Given the description of an element on the screen output the (x, y) to click on. 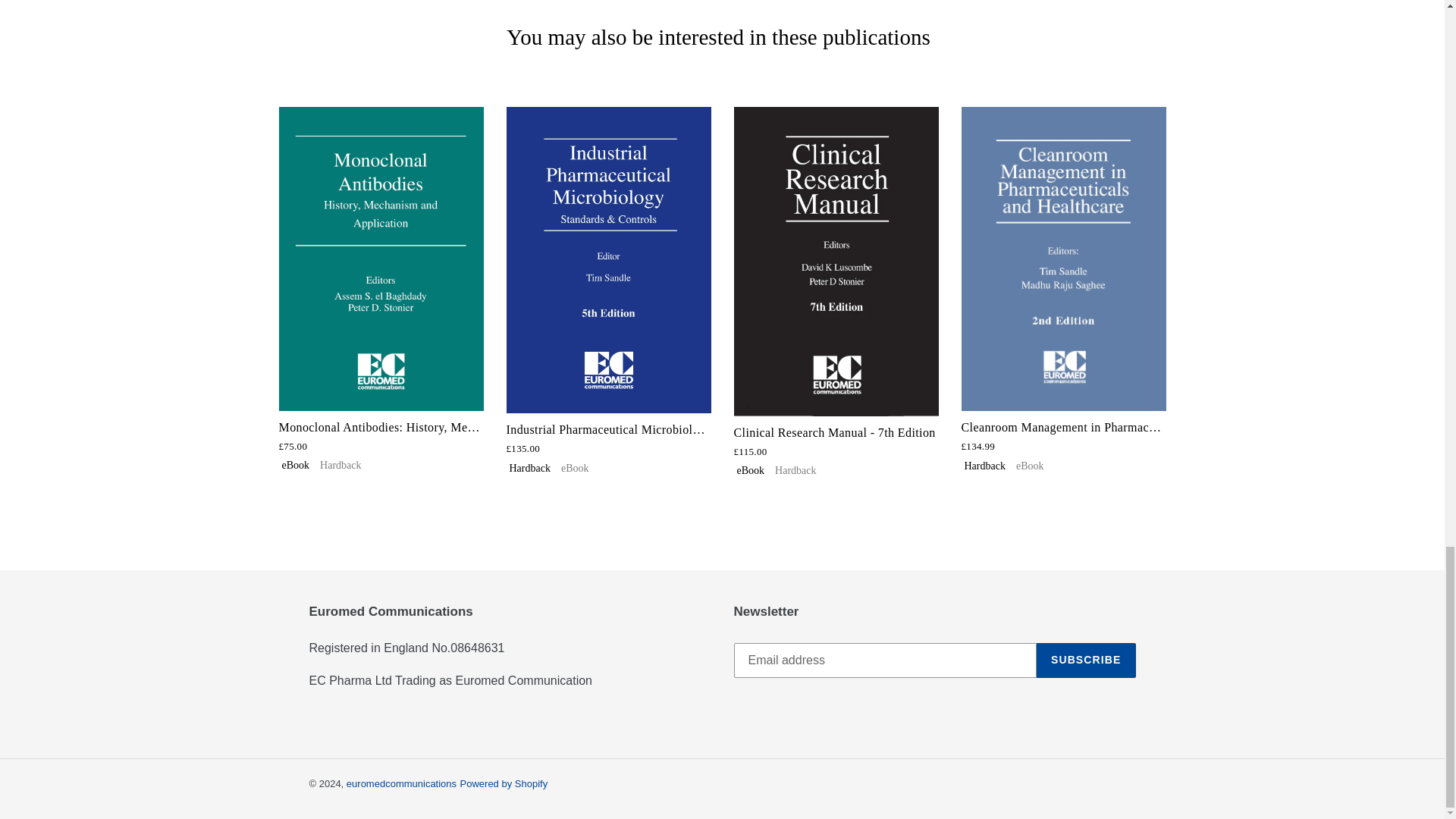
Hardback (984, 465)
eBook (296, 465)
eBook (1029, 465)
eBook (750, 470)
Hardback (340, 465)
Hardback (794, 470)
Hardback (529, 467)
eBook (574, 467)
